Given the description of an element on the screen output the (x, y) to click on. 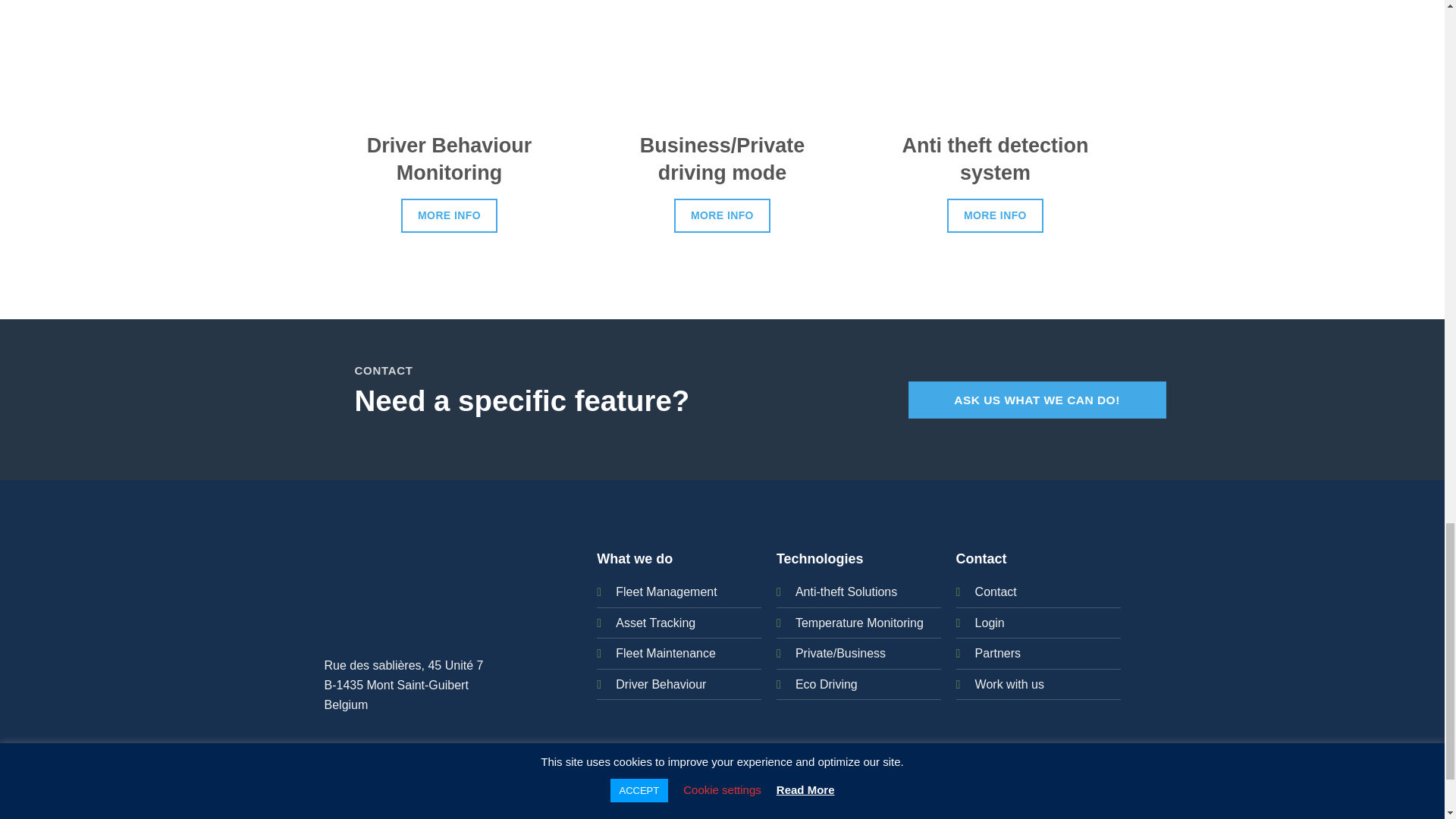
Driver Behaviour (660, 684)
Fleet Management (665, 591)
Eco Driving (825, 684)
MORE INFO (995, 215)
Anti-theft Solutions (845, 591)
Send us an email (738, 791)
Fleet Maintenance (665, 653)
MORE INFO (722, 215)
Follow on YouTube (773, 791)
Asset Tracking (655, 622)
ASK US WHAT WE CAN DO! (1037, 399)
Partners (997, 653)
Login (989, 622)
MORE INFO (449, 215)
Contact (995, 591)
